Given the description of an element on the screen output the (x, y) to click on. 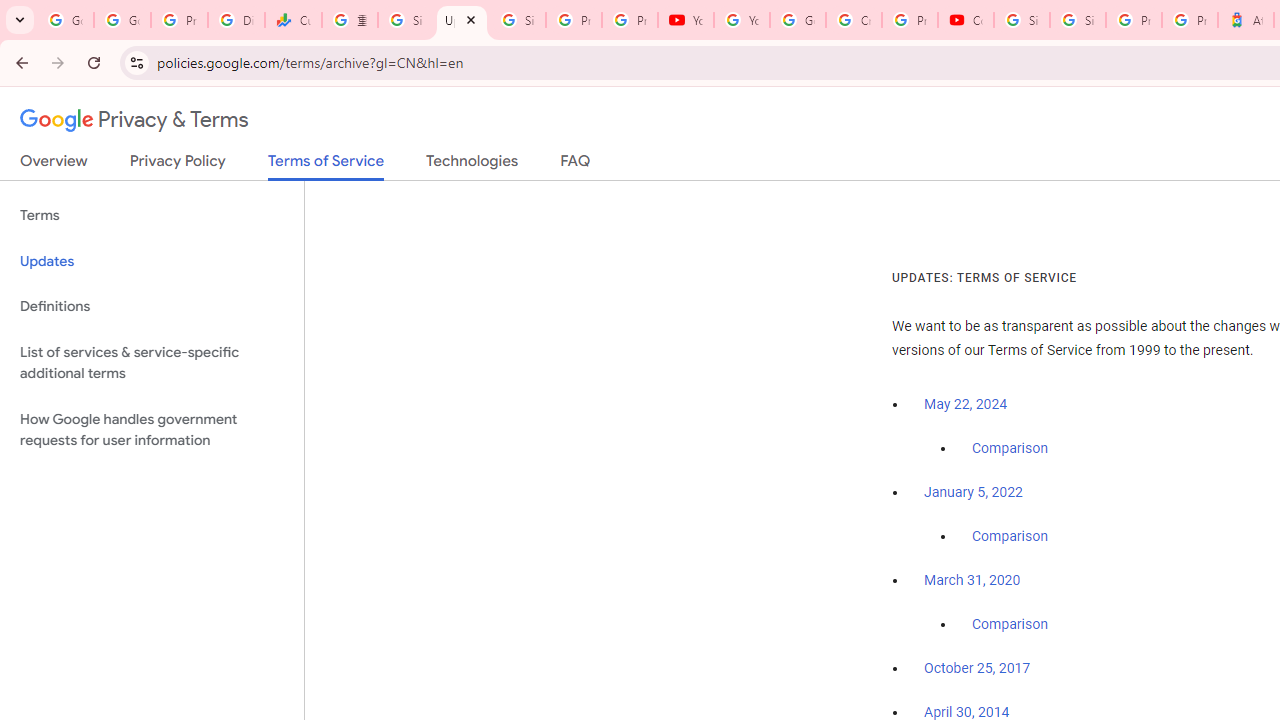
Privacy Policy (177, 165)
FAQ (575, 165)
Technologies (472, 165)
Privacy Checkup (629, 20)
October 25, 2017 (977, 669)
Sign in - Google Accounts (518, 20)
Terms of Service (326, 166)
Sign in - Google Accounts (405, 20)
Google Account Help (797, 20)
YouTube (685, 20)
Content Creator Programs & Opportunities - YouTube Creators (966, 20)
Privacy & Terms (134, 120)
